Given the description of an element on the screen output the (x, y) to click on. 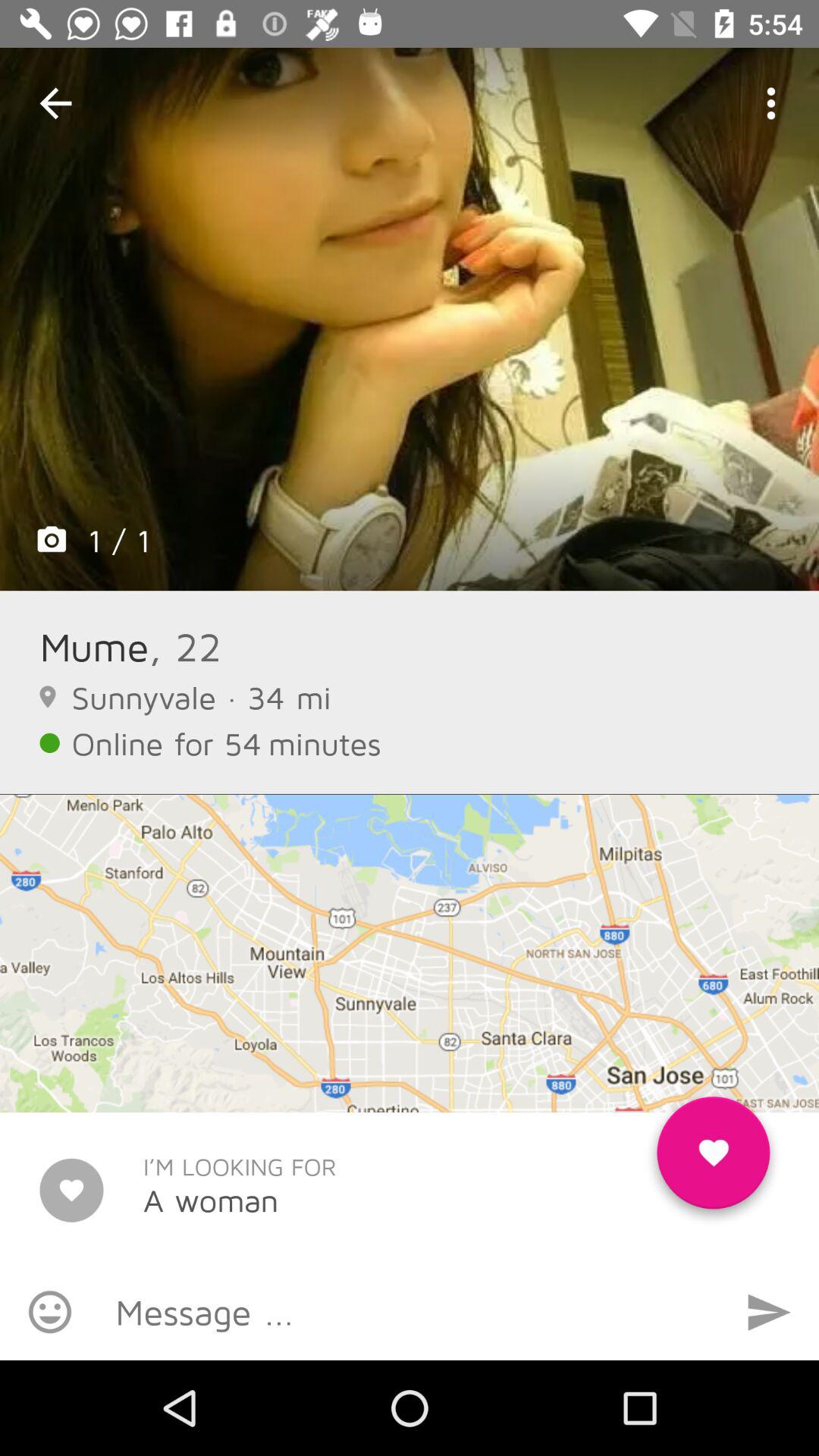
open item at the top right corner (771, 103)
